Given the description of an element on the screen output the (x, y) to click on. 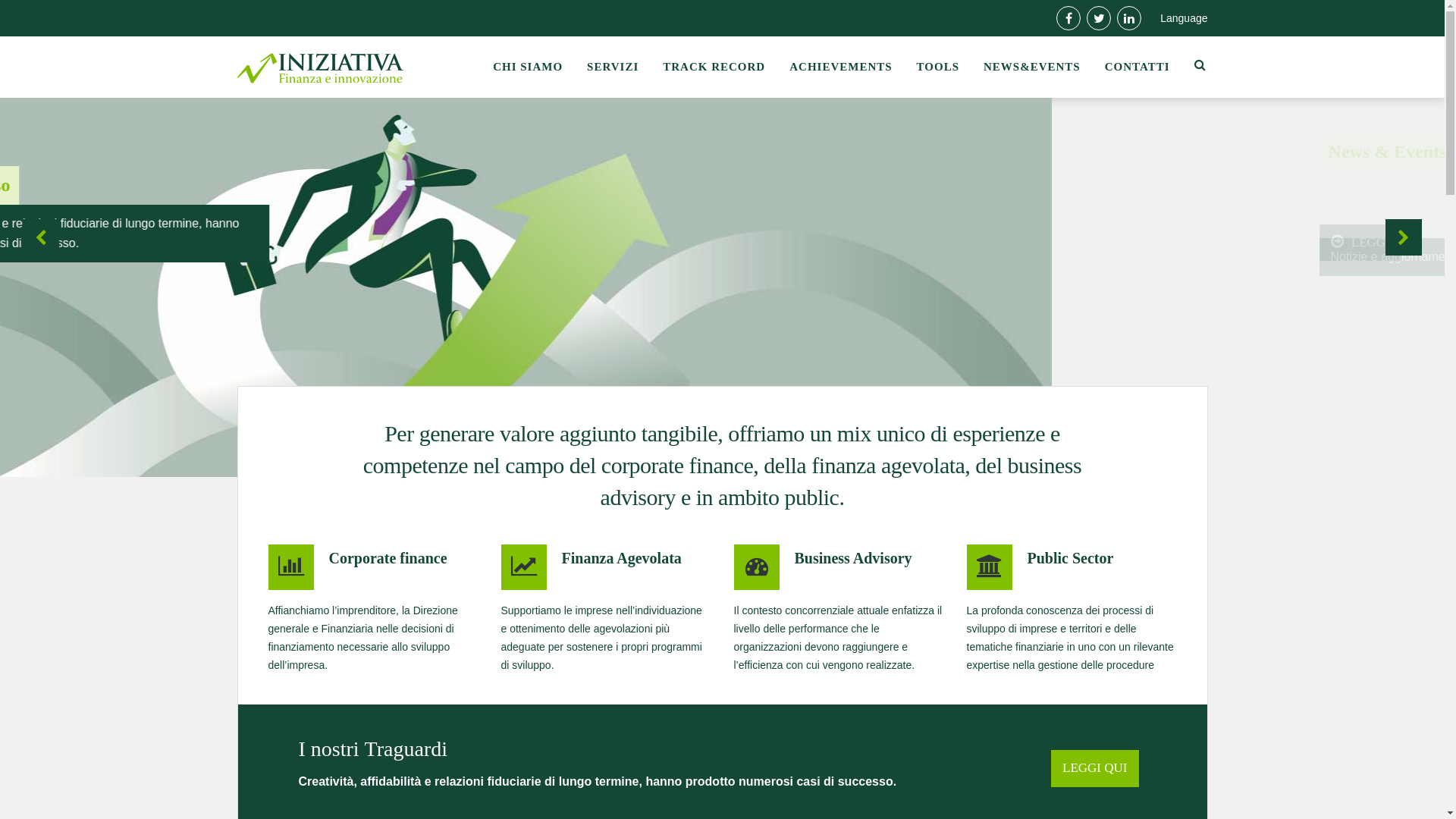
LEGGI Element type: text (307, 295)
Language Element type: text (1183, 18)
TOOLS Element type: text (937, 66)
LEGGI QUI Element type: text (1094, 767)
Corporate finance Element type: text (388, 557)
Finanza Agevolata Element type: text (620, 557)
SERVIZI Element type: text (612, 66)
CONTATTI Element type: text (1137, 66)
ACHIEVEMENTS Element type: text (840, 66)
TRACK RECORD Element type: text (713, 66)
Public Sector Element type: text (1069, 557)
Business Advisory Element type: text (853, 557)
CHI SIAMO Element type: text (527, 66)
NEWS&EVENTS Element type: text (1031, 66)
